Given the description of an element on the screen output the (x, y) to click on. 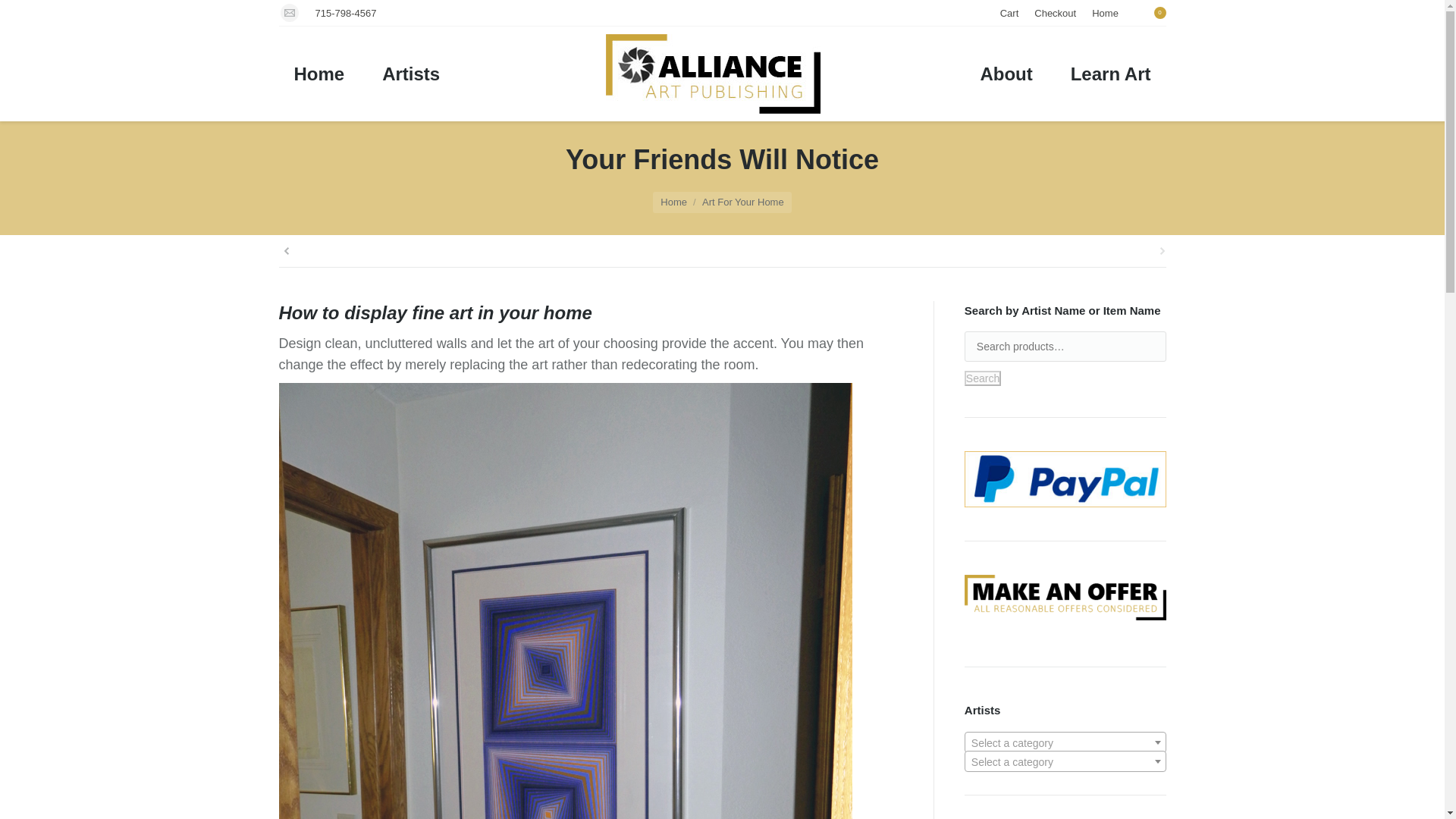
About (1004, 73)
Home (674, 202)
Search (982, 378)
Learn Art (1110, 73)
Artists (410, 73)
 0 (1155, 12)
Mail (289, 13)
Art For Your Home (742, 202)
Home (319, 73)
Home (1105, 12)
